Given the description of an element on the screen output the (x, y) to click on. 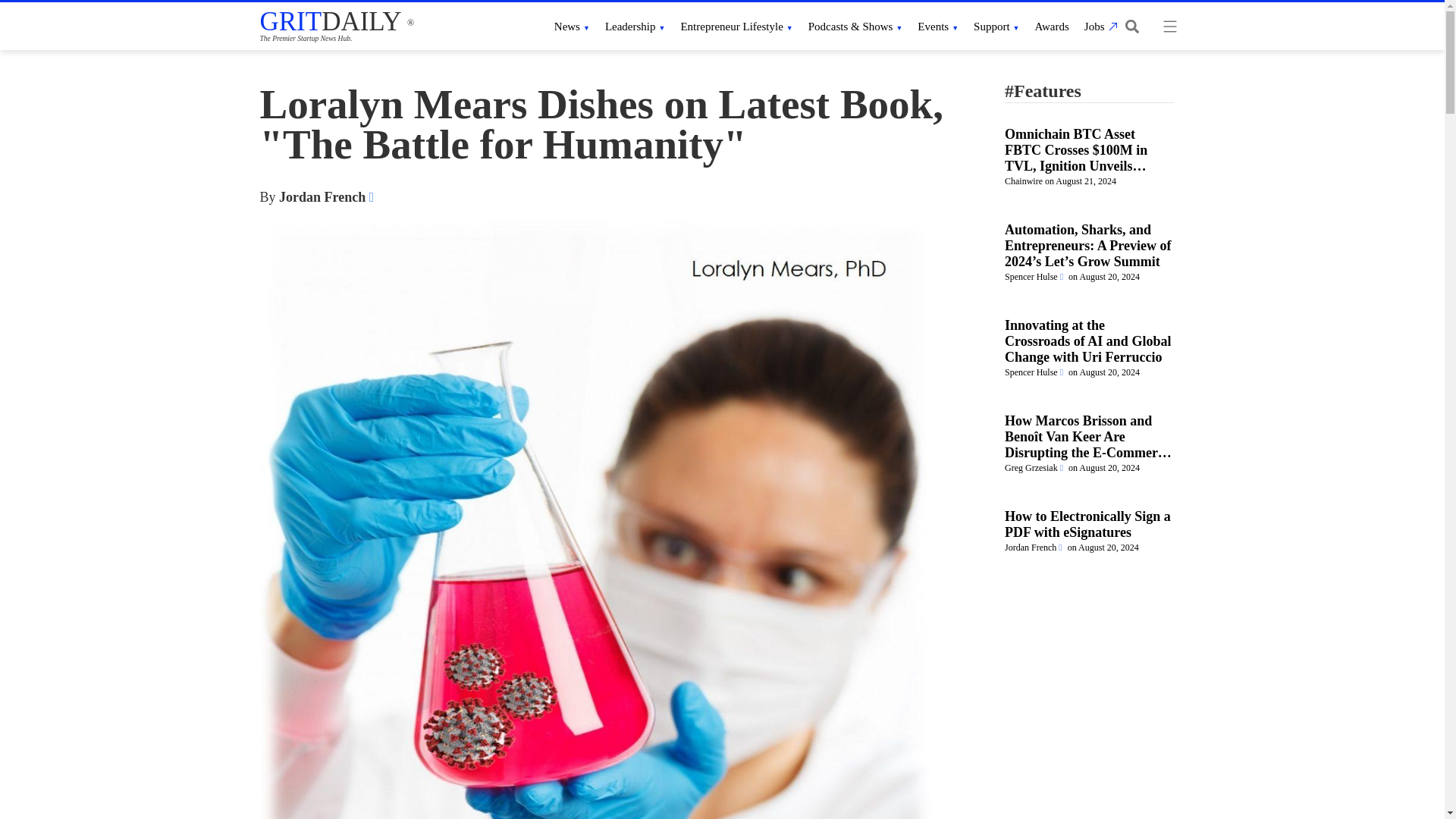
Support (996, 25)
Leadership (635, 25)
Events (937, 25)
Entrepreneur Lifestyle (735, 25)
Awards (1051, 25)
Jobs (1098, 25)
News (571, 25)
